Given the description of an element on the screen output the (x, y) to click on. 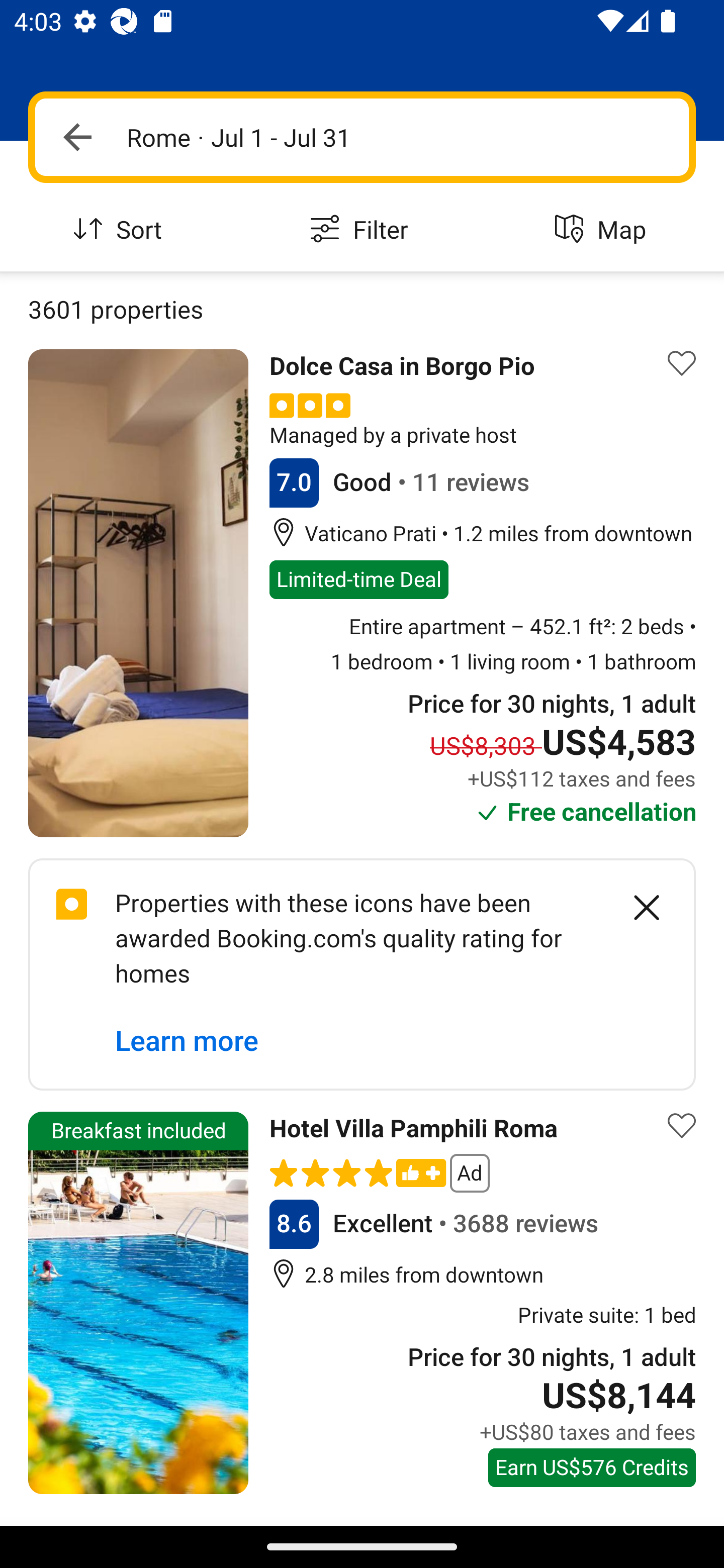
Navigate up Rome · Jul 1 - Jul 31 (362, 136)
Navigate up (77, 136)
Sort (120, 230)
Filter (361, 230)
Map (603, 230)
Save property to list (681, 363)
Clear (635, 907)
Learn more (187, 1040)
Save property to list (681, 1125)
